Given the description of an element on the screen output the (x, y) to click on. 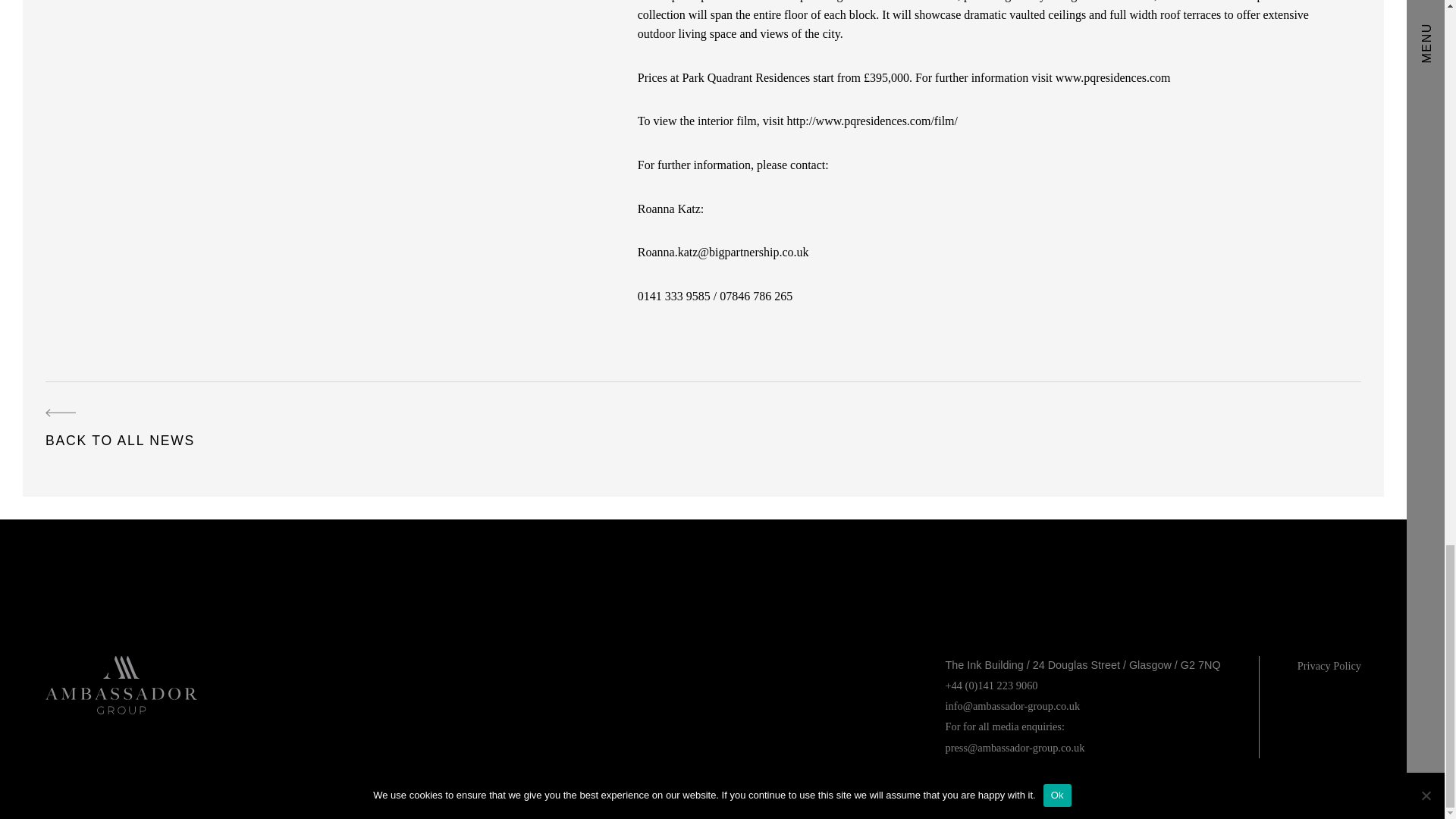
Privacy Policy (1329, 665)
BACK TO ALL NEWS (120, 429)
